Given the description of an element on the screen output the (x, y) to click on. 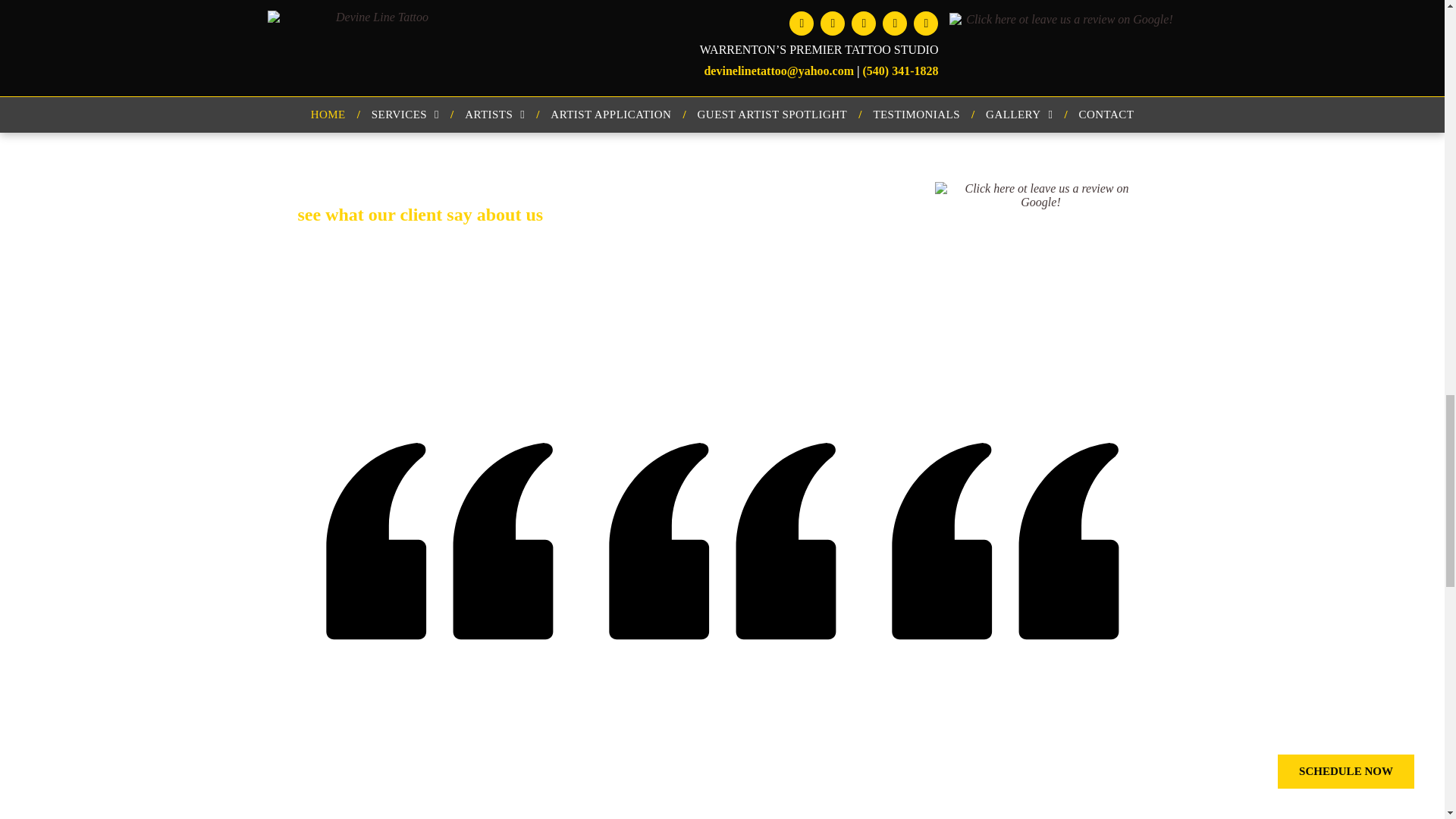
Quote Icon (1005, 541)
Click here ot leave us a review on Google! (1040, 214)
Quote Icon (721, 541)
Quote Icon (438, 541)
